Given the description of an element on the screen output the (x, y) to click on. 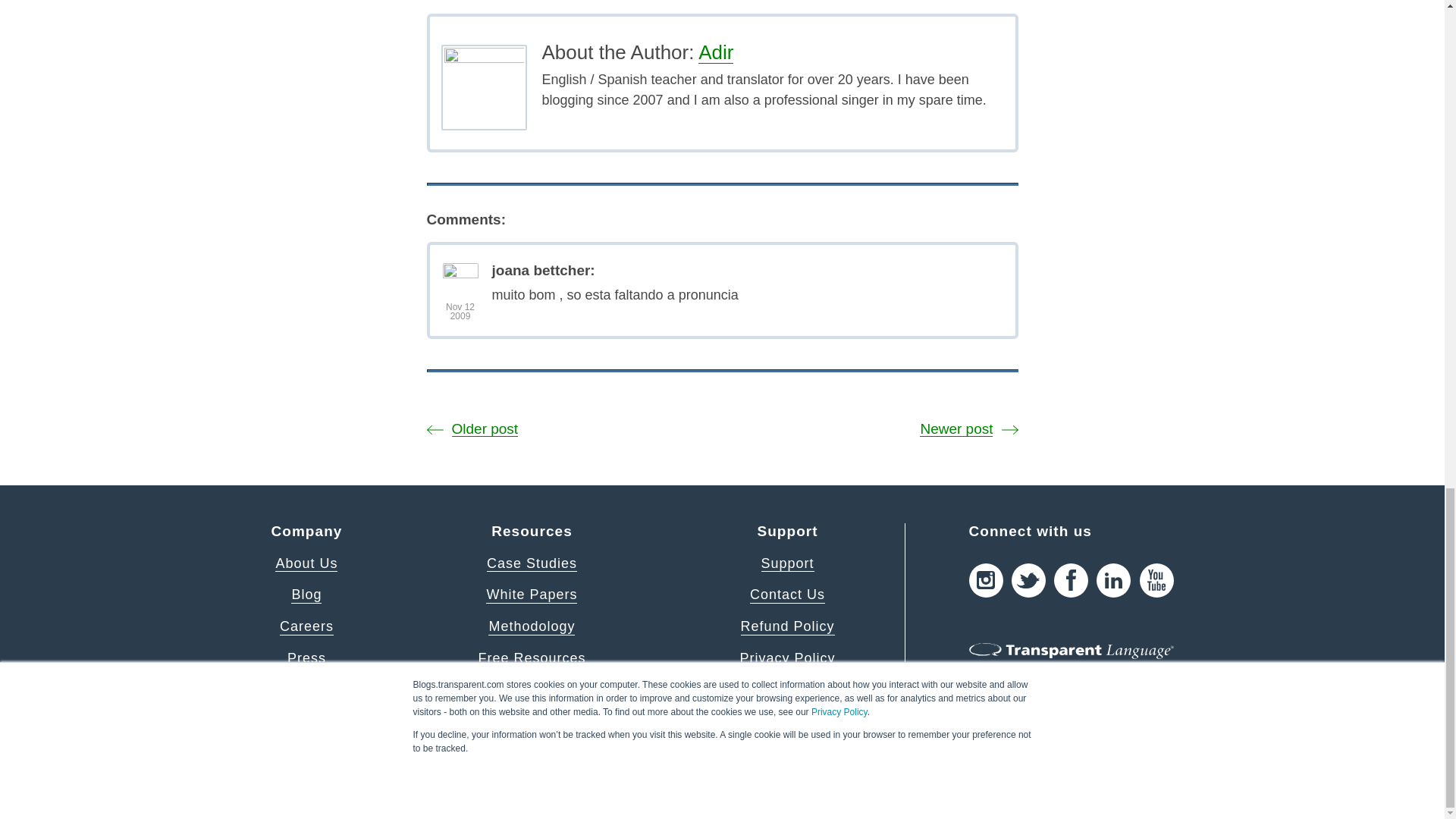
YouTube (1155, 580)
Nov 12, 2009 (459, 311)
LinkedIn (1113, 580)
Instagram (986, 580)
Twitter (1028, 580)
Facebook (1070, 580)
